Given the description of an element on the screen output the (x, y) to click on. 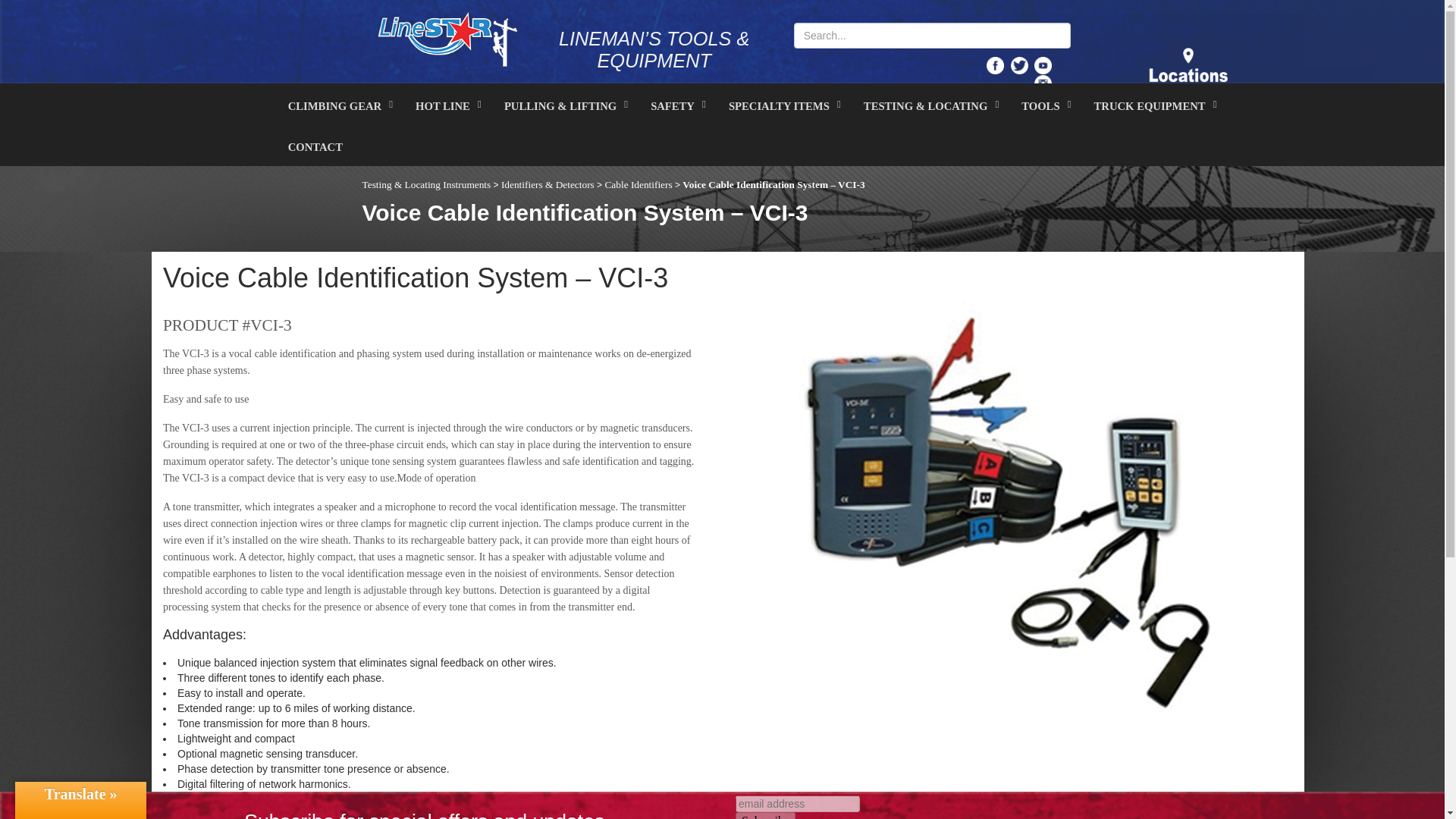
CLIMBING GEAR (336, 103)
Subscribe (764, 815)
Go to Cable Identifiers. (637, 184)
